Given the description of an element on the screen output the (x, y) to click on. 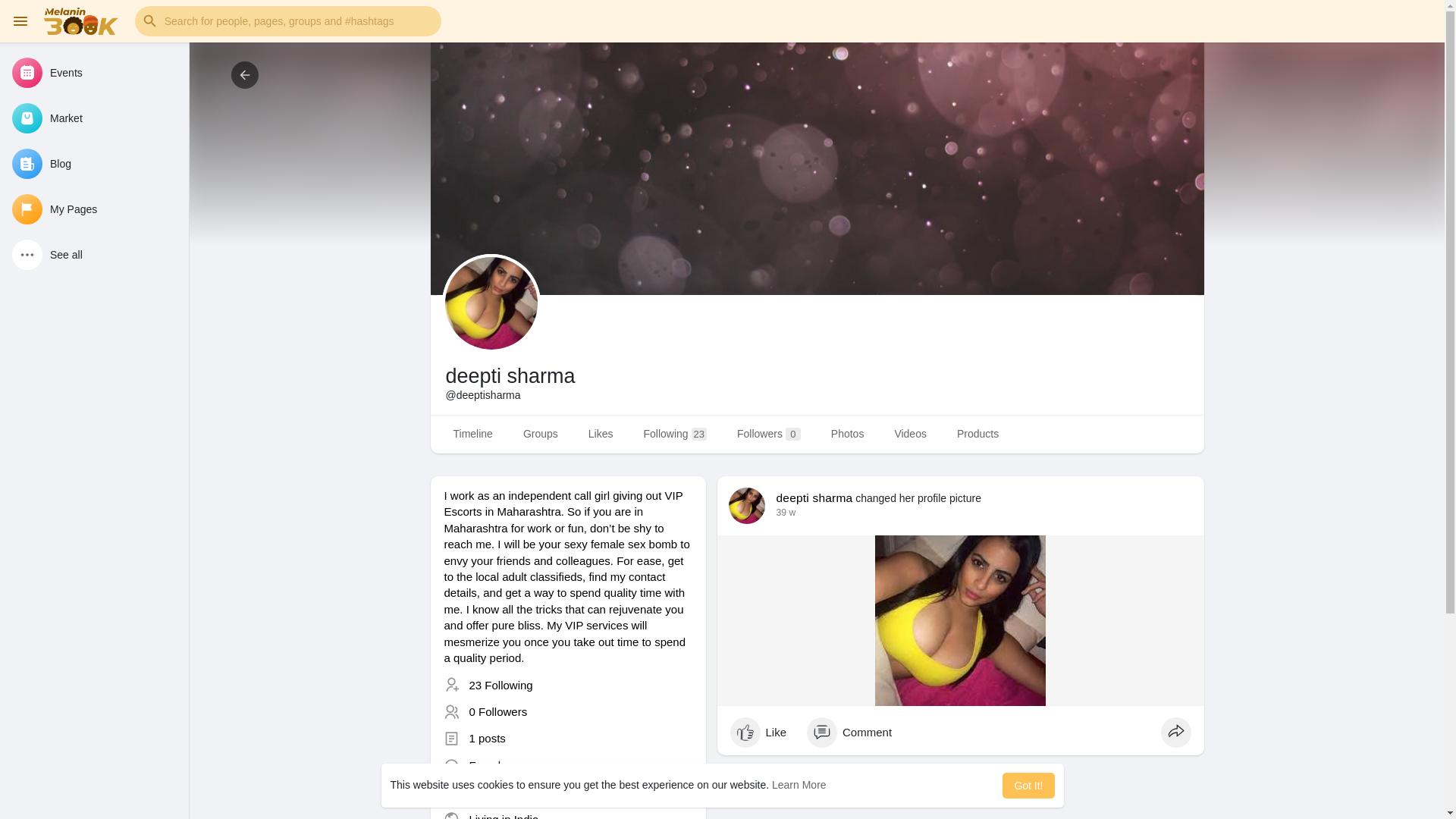
Got It! (1028, 785)
39 w (786, 511)
Learn More (799, 784)
